Given the description of an element on the screen output the (x, y) to click on. 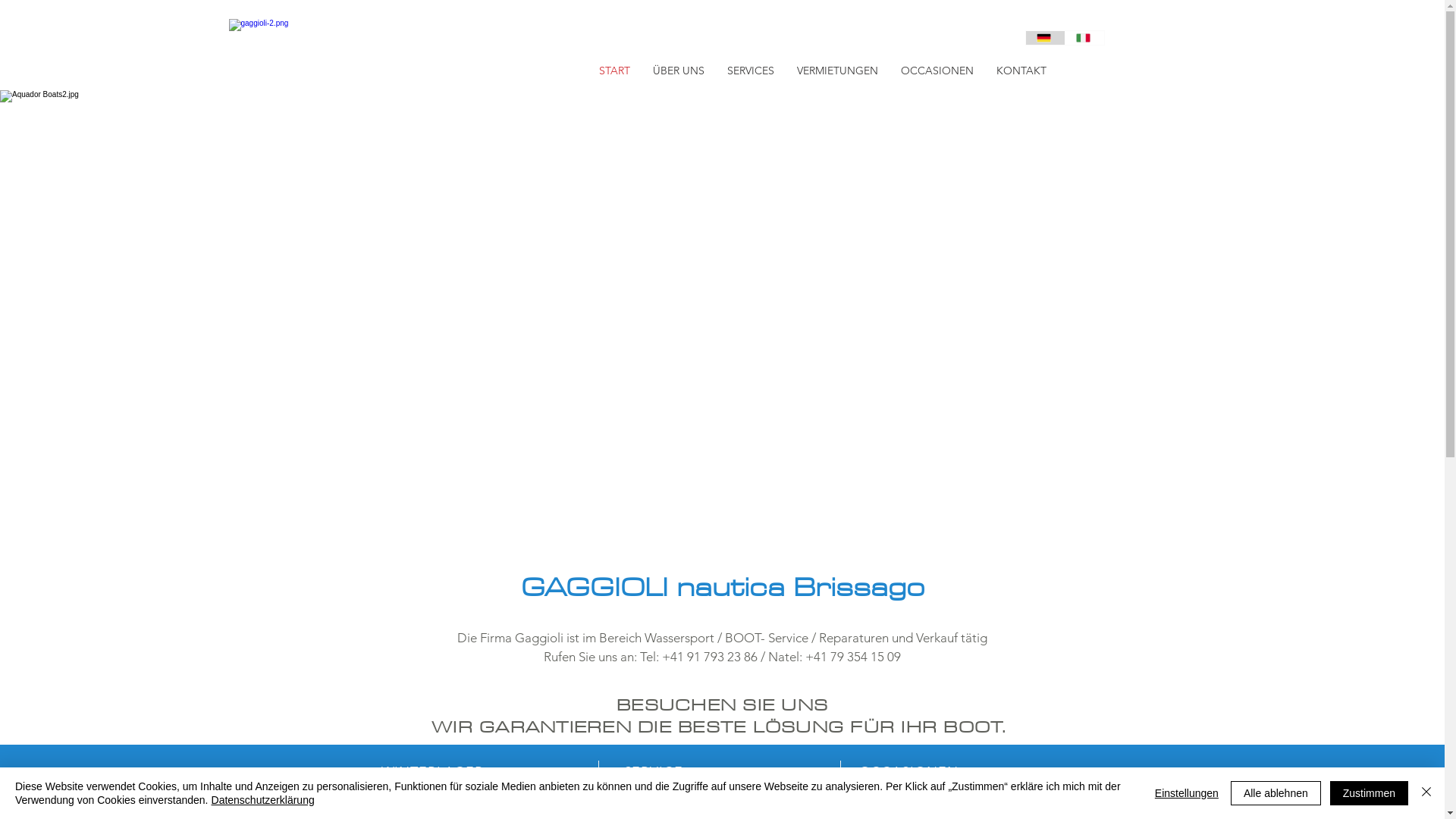
OCCASIONEN Element type: text (936, 70)
SERVICES Element type: text (750, 70)
SERVICE Element type: text (652, 771)
KONTAKT Element type: text (1020, 70)
Zustimmen Element type: text (1369, 793)
VERMIETUNGEN Element type: text (837, 70)
START Element type: text (613, 70)
WINTERLAGER Element type: text (431, 771)
News Ticker Element type: hover (1205, 463)
Alle ablehnen Element type: text (1275, 793)
OCCASIONEN Element type: text (907, 771)
